Given the description of an element on the screen output the (x, y) to click on. 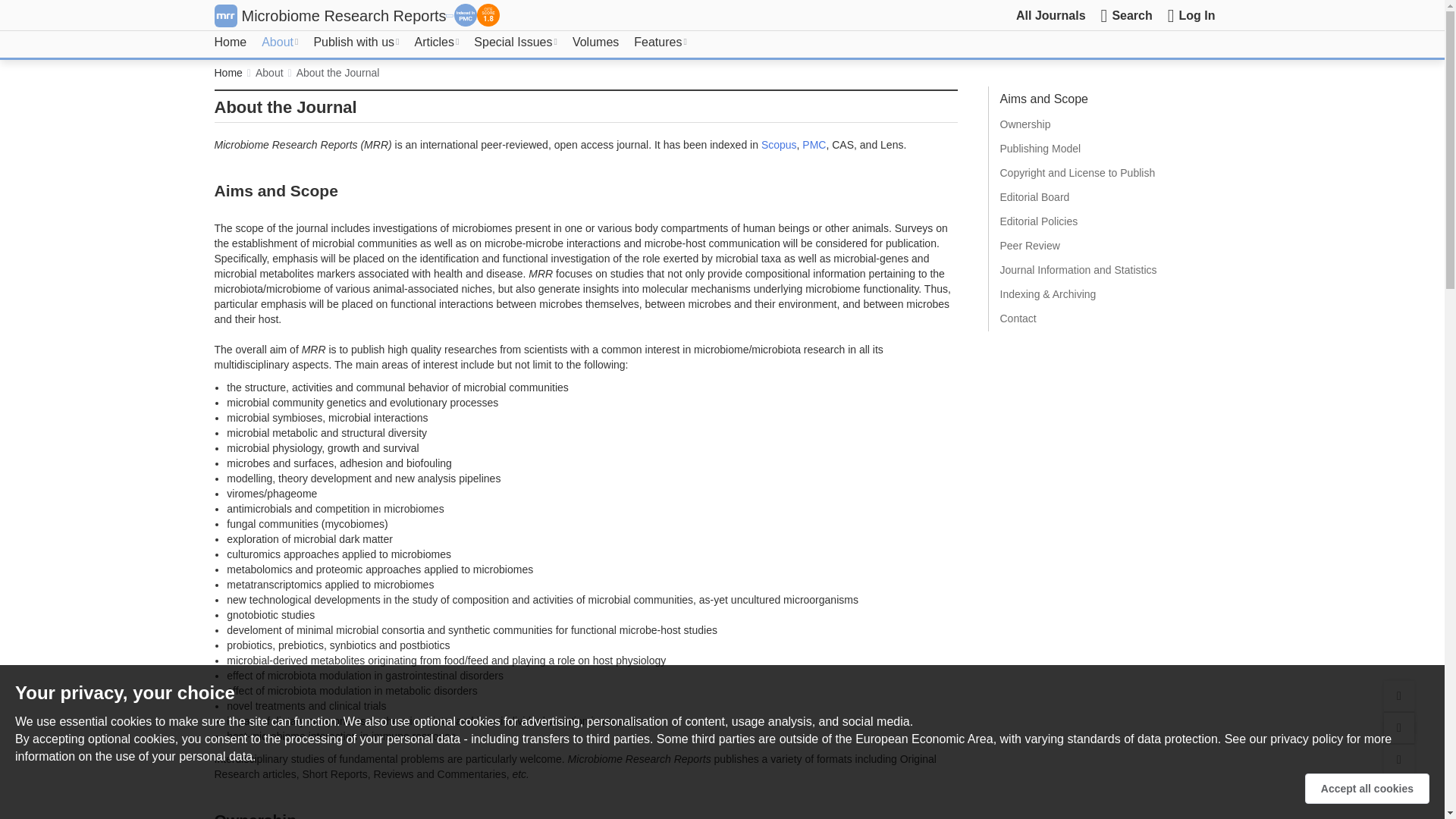
Home (229, 42)
Microbiome Research Reports (343, 15)
Log In (1191, 15)
All Journals (1051, 15)
Volumes (595, 42)
